Given the description of an element on the screen output the (x, y) to click on. 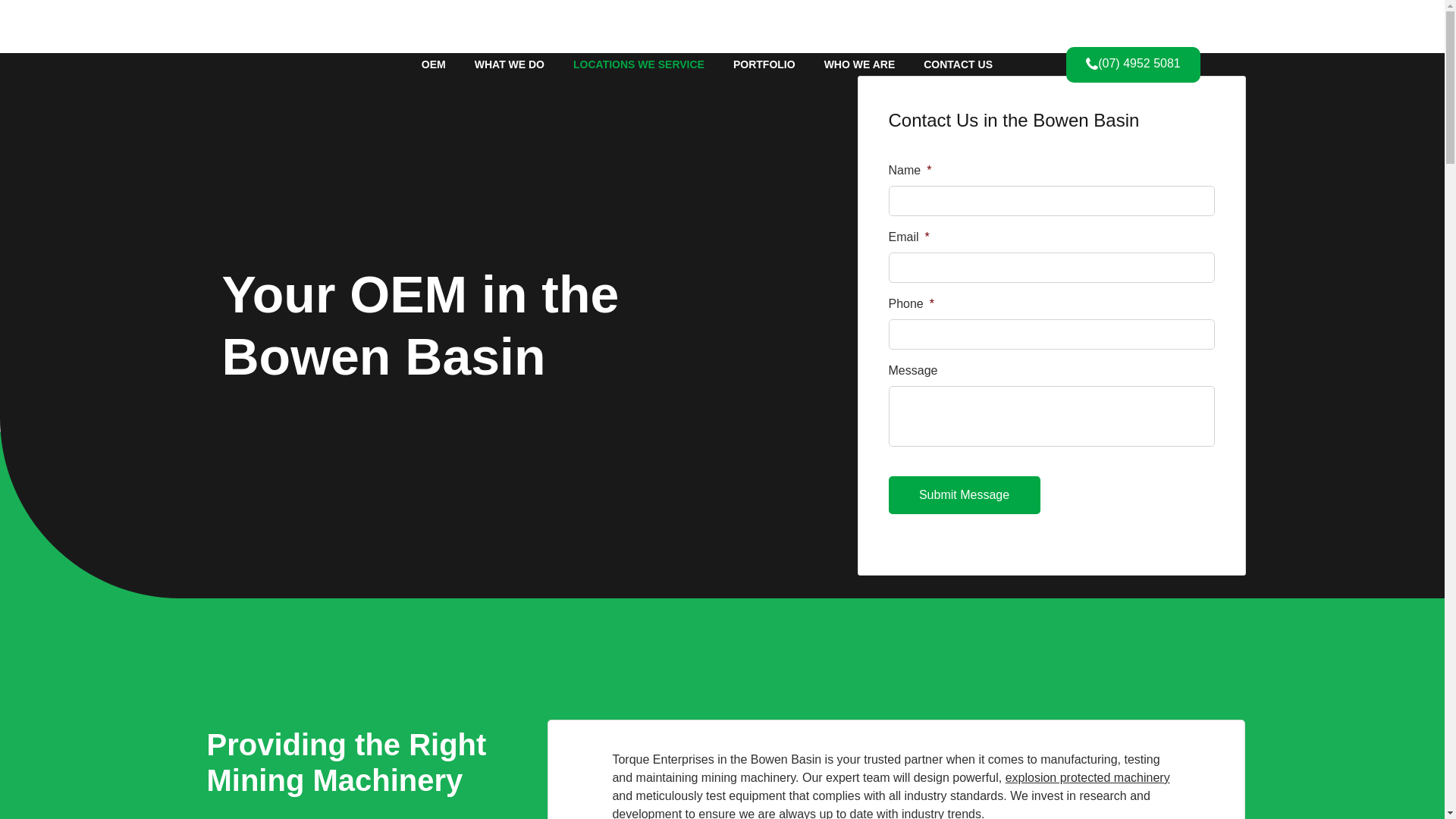
Submit Message (964, 494)
LOCATIONS WE SERVICE (638, 64)
PORTFOLIO (763, 64)
CONTACT US (957, 64)
WHAT WE DO (509, 64)
WHO WE ARE (859, 64)
Torque Enterprises: Equipment Manufacturer in Mackay (289, 64)
